Given the description of an element on the screen output the (x, y) to click on. 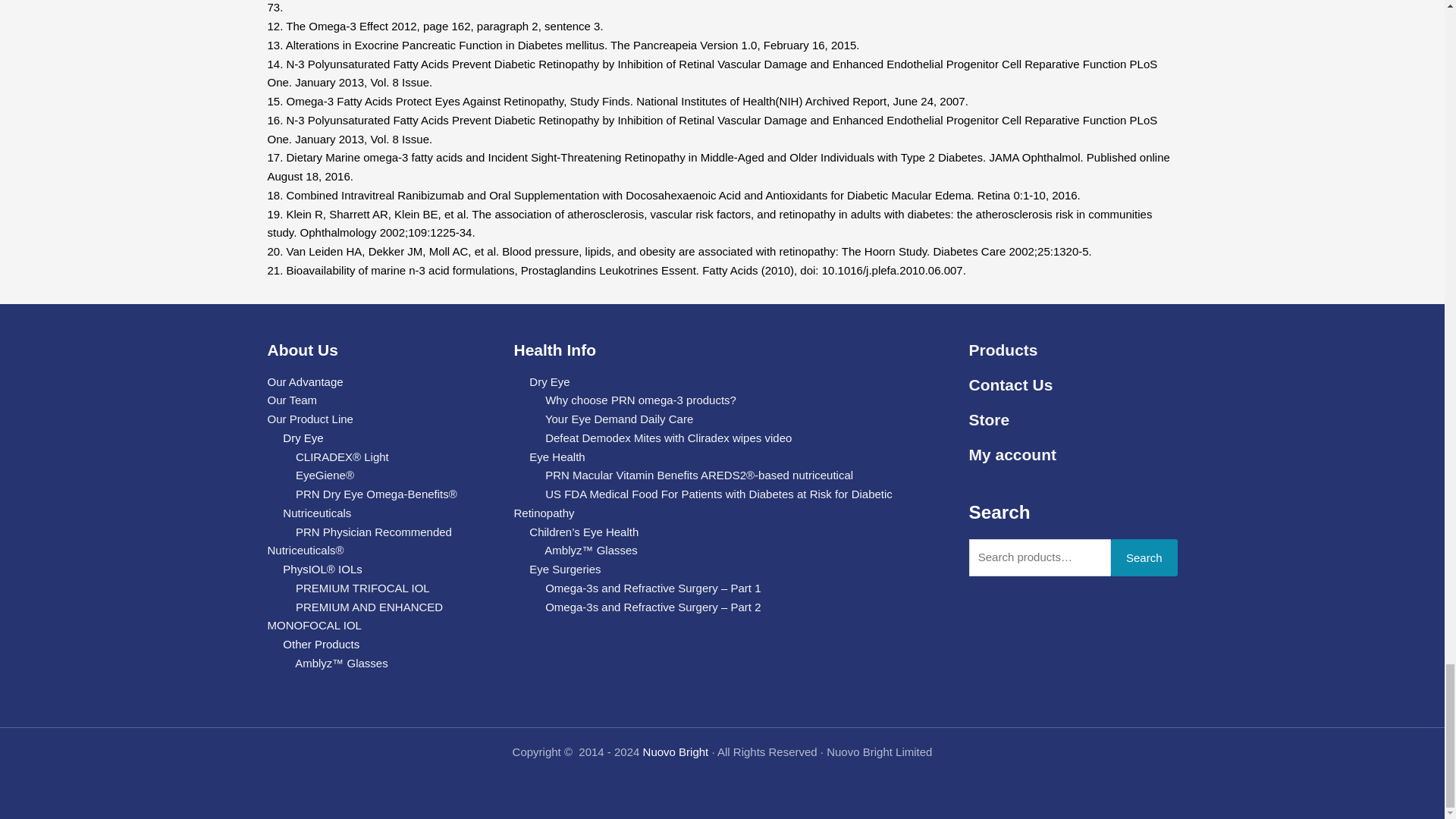
Nuovo Bright (676, 751)
